Given the description of an element on the screen output the (x, y) to click on. 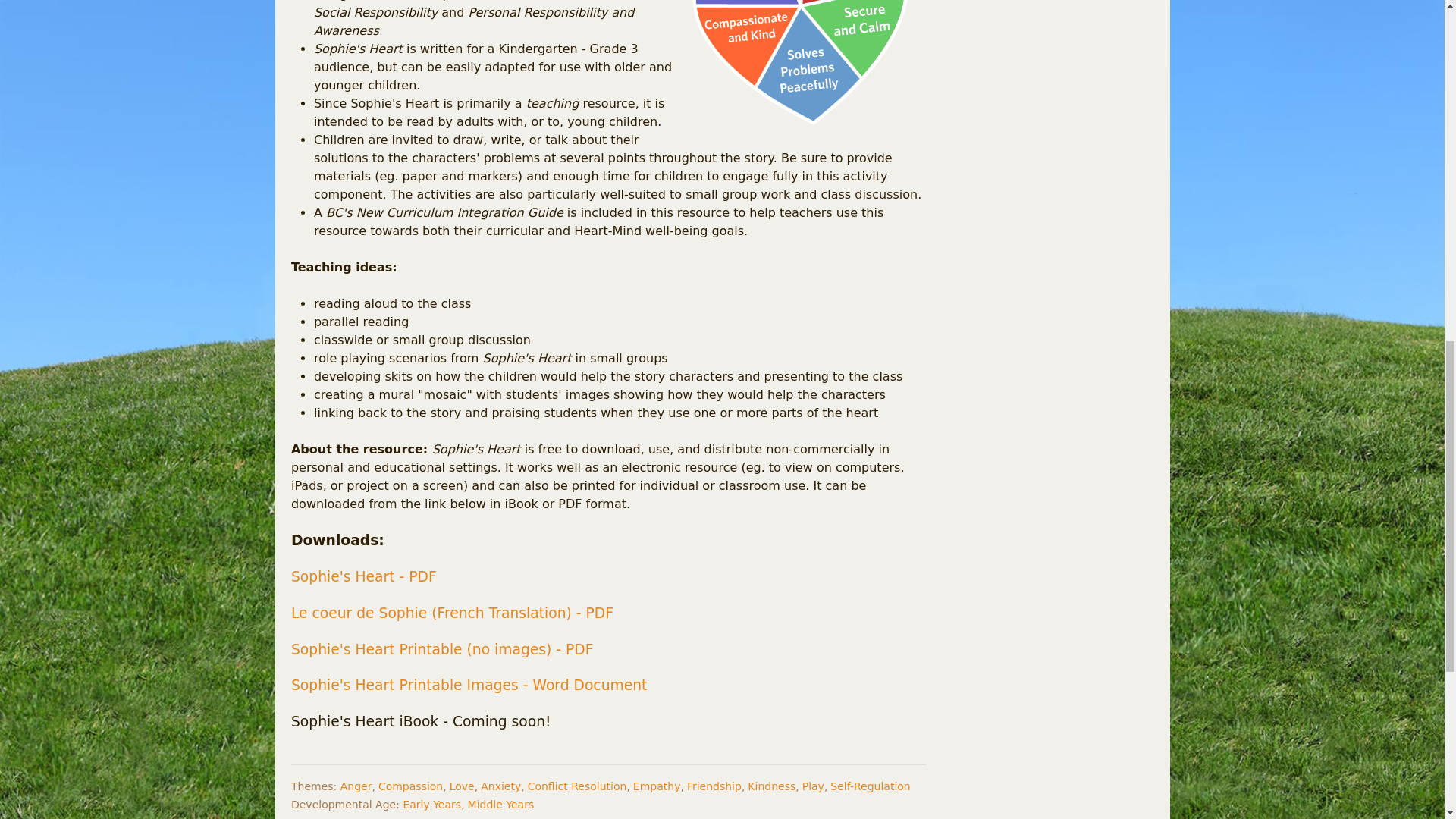
Anger (356, 786)
Sophie's Heart - PDF (363, 576)
Anxiety (500, 786)
Sophie's Heart Printable Images - Word Document  (470, 684)
Friendship (714, 786)
Middle Years (500, 804)
Self-Regulation (869, 786)
Love (461, 786)
Compassion (410, 786)
Play (813, 786)
Conflict Resolution (577, 786)
Kindness (771, 786)
Empathy (657, 786)
Early Years (432, 804)
